Given the description of an element on the screen output the (x, y) to click on. 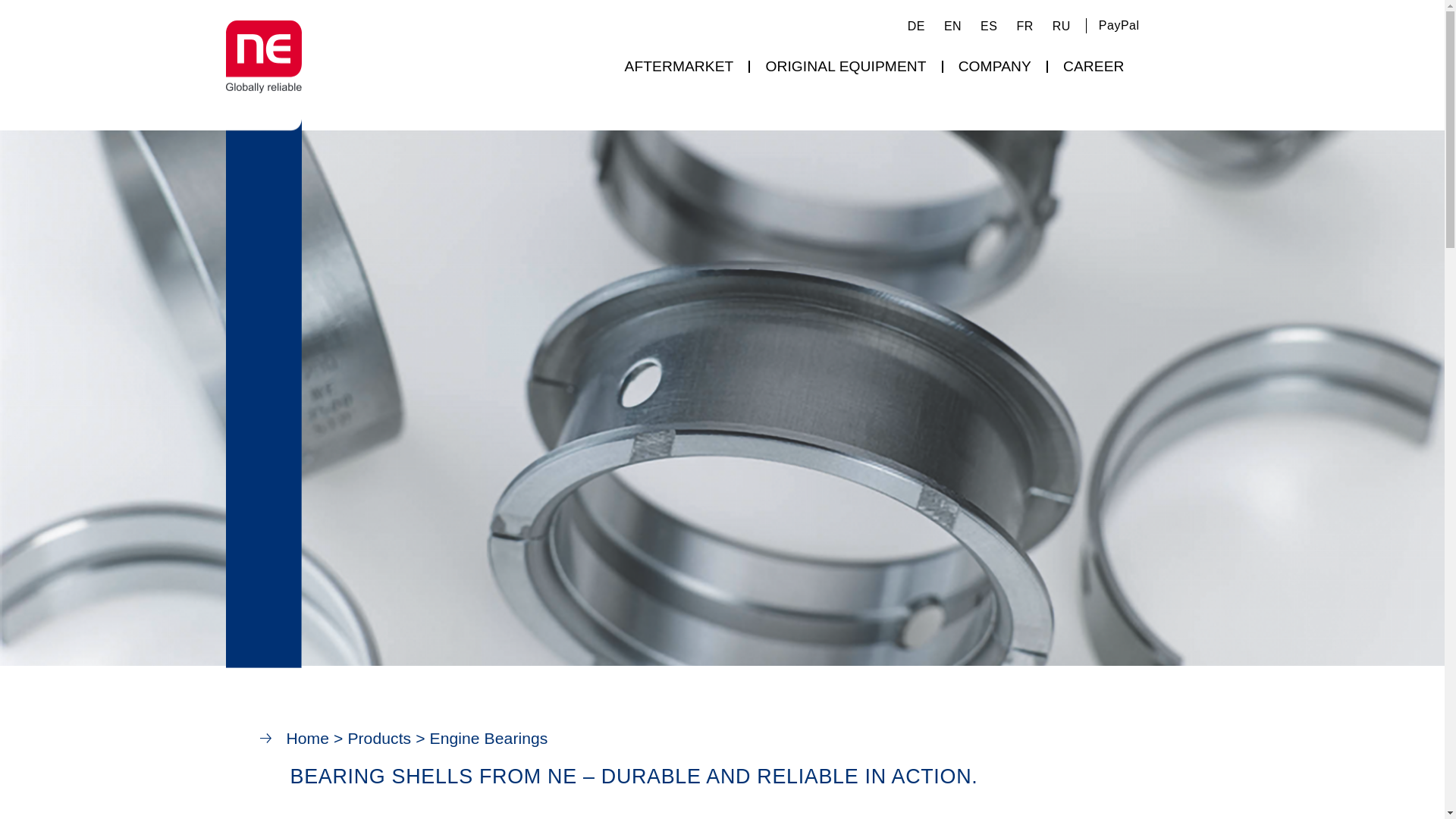
COMPANY (994, 66)
PayPal (1119, 24)
ES (984, 26)
DE (911, 26)
EN (948, 26)
ORIGINAL EQUIPMENT (844, 66)
CAREER (1094, 66)
FR (1020, 26)
AFTERMARKET (678, 66)
RU (1057, 26)
